Given the description of an element on the screen output the (x, y) to click on. 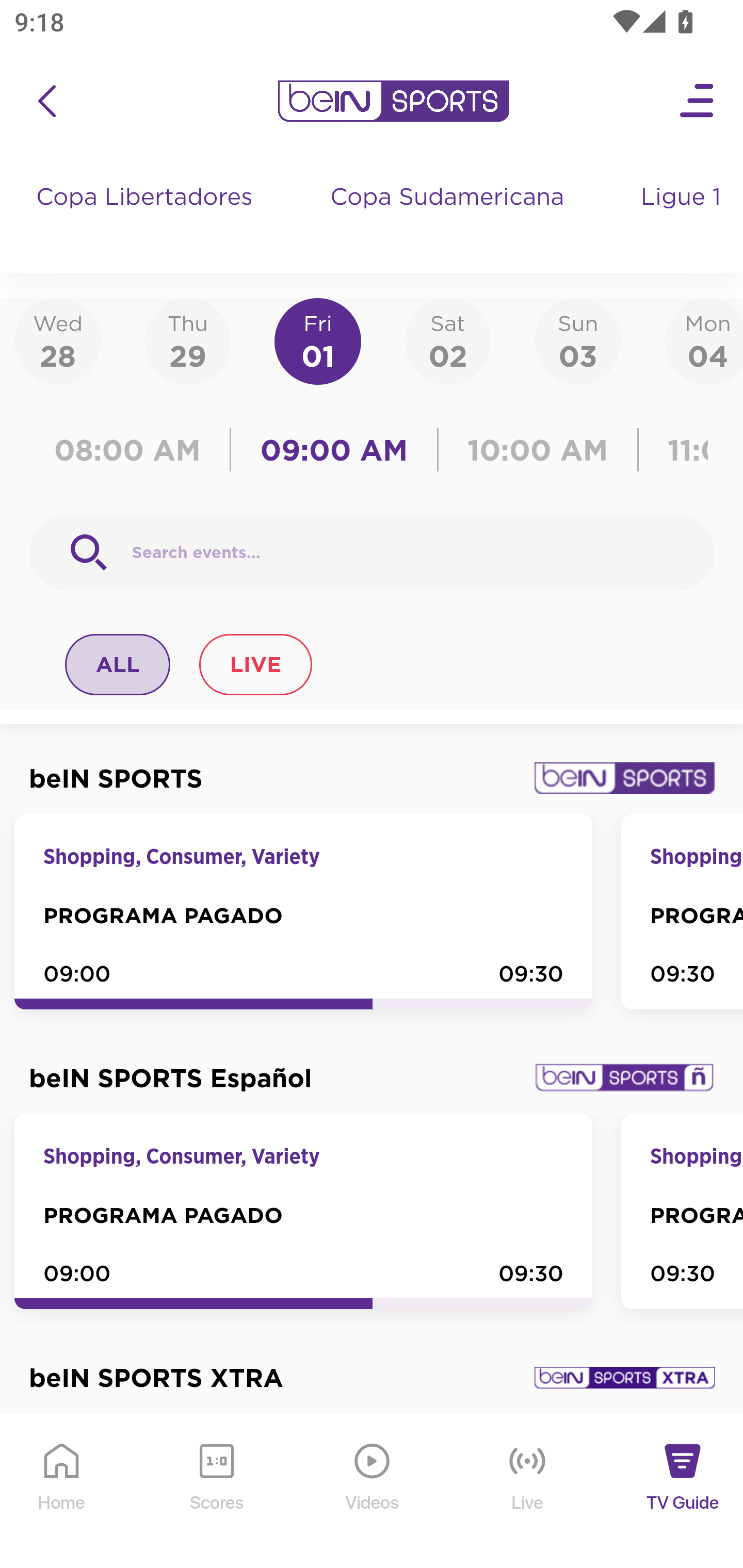
en-us?platform=mobile_android bein logo (392, 101)
icon back (46, 101)
Open Menu Icon (697, 101)
Copa Libertadores (146, 216)
Copa Sudamericana (448, 216)
Ligue 1 (682, 216)
Wed28 (58, 340)
Thu29 (187, 340)
Fri01 (318, 340)
Sat02 (447, 340)
Sun03 (578, 340)
Mon04 (703, 340)
08:00 AM (134, 449)
09:00 AM (334, 449)
10:00 AM (537, 449)
ALL (118, 663)
LIVE (255, 663)
Home Home Icon Home (61, 1491)
Scores Scores Icon Scores (216, 1491)
Videos Videos Icon Videos (372, 1491)
TV Guide TV Guide Icon TV Guide (682, 1491)
